Given the description of an element on the screen output the (x, y) to click on. 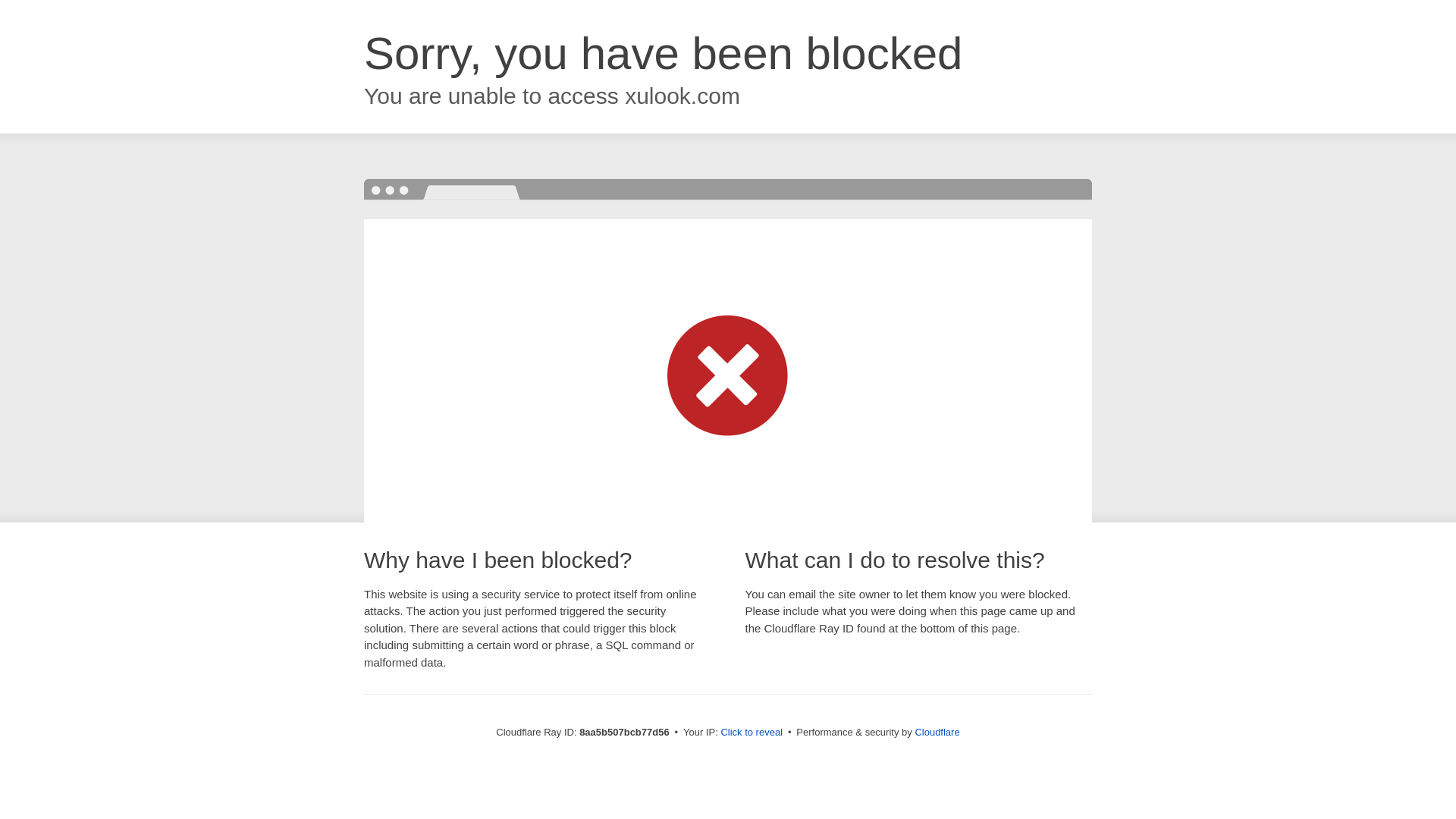
Click to reveal (751, 732)
Cloudflare (936, 731)
